Given the description of an element on the screen output the (x, y) to click on. 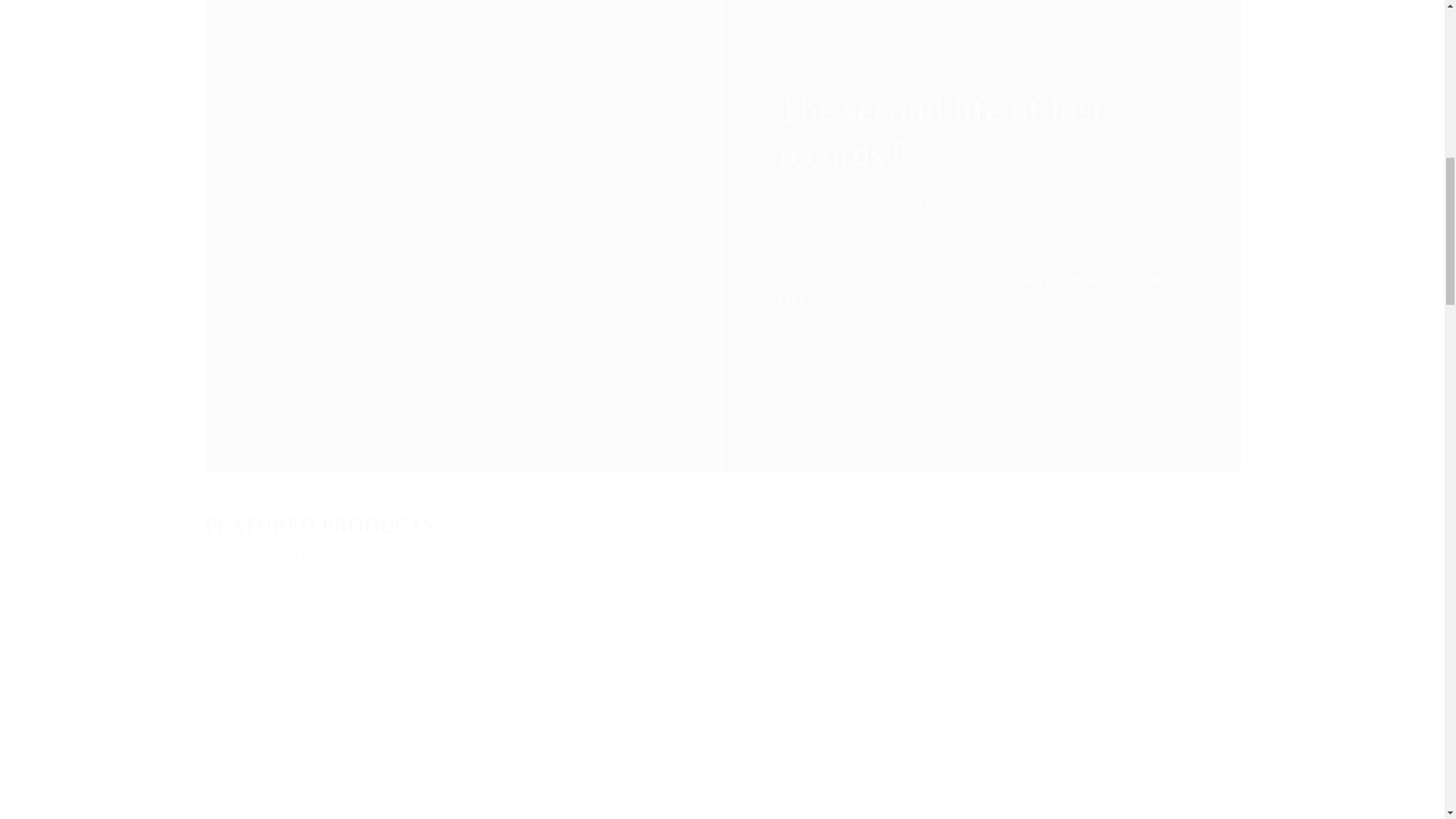
Our most loved ones! (722, 558)
FEATURED PRODUCTS (371, 712)
